Given the description of an element on the screen output the (x, y) to click on. 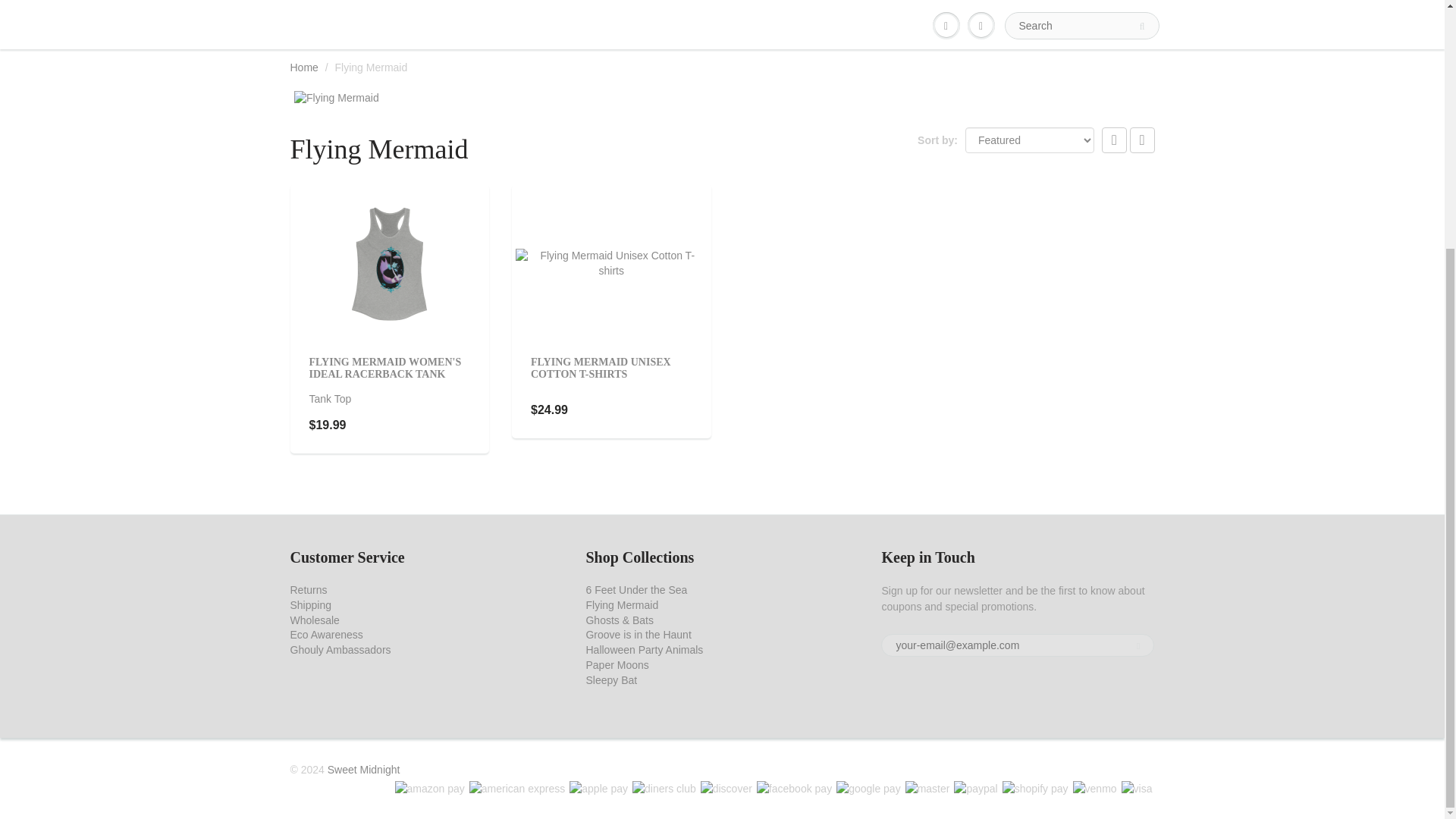
FREE FUN (722, 1)
BAGS (573, 1)
Home (303, 67)
SALE (869, 1)
Grid view (1114, 140)
List View (1141, 140)
HOBO MEMORIAL SALE (364, 1)
ACCESSORIES (492, 1)
OUR COFFIN (944, 1)
VISIT US (1027, 1)
